Given the description of an element on the screen output the (x, y) to click on. 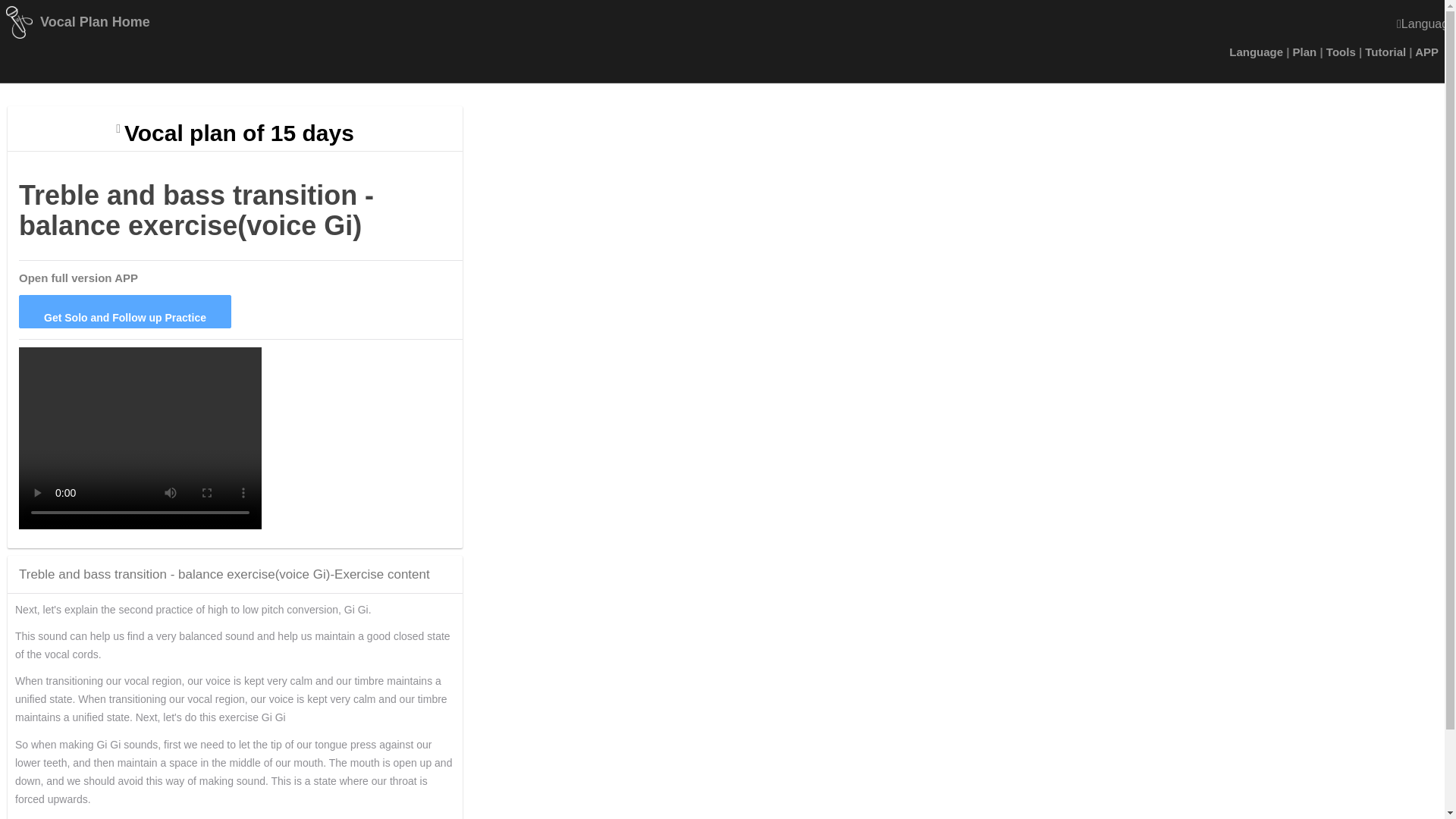
Vocal Plan Home (94, 20)
Language (1255, 51)
Get Solo and Follow up Practice (124, 311)
Open full version APP (78, 277)
Daily 15 day singing practice plan app (238, 132)
Vocal Plan App Download (1426, 51)
Vocal Plan App (78, 277)
Tools (1340, 51)
Online Learning Singing Vocal Tutorial (1255, 51)
APP (1426, 51)
